Given the description of an element on the screen output the (x, y) to click on. 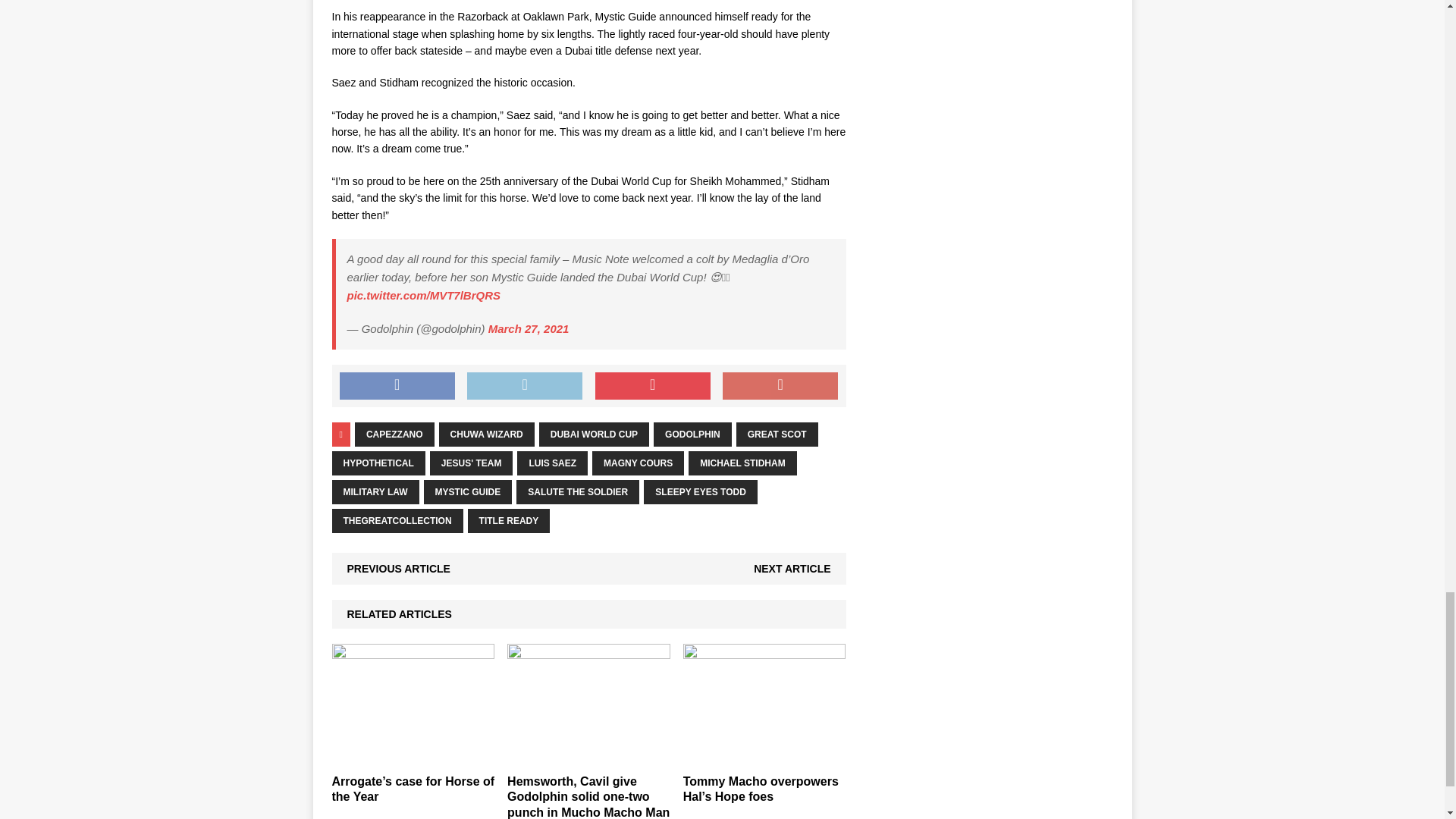
Tweet This Post (524, 385)
Share on Facebook (396, 385)
Pin This Post (652, 385)
